Given the description of an element on the screen output the (x, y) to click on. 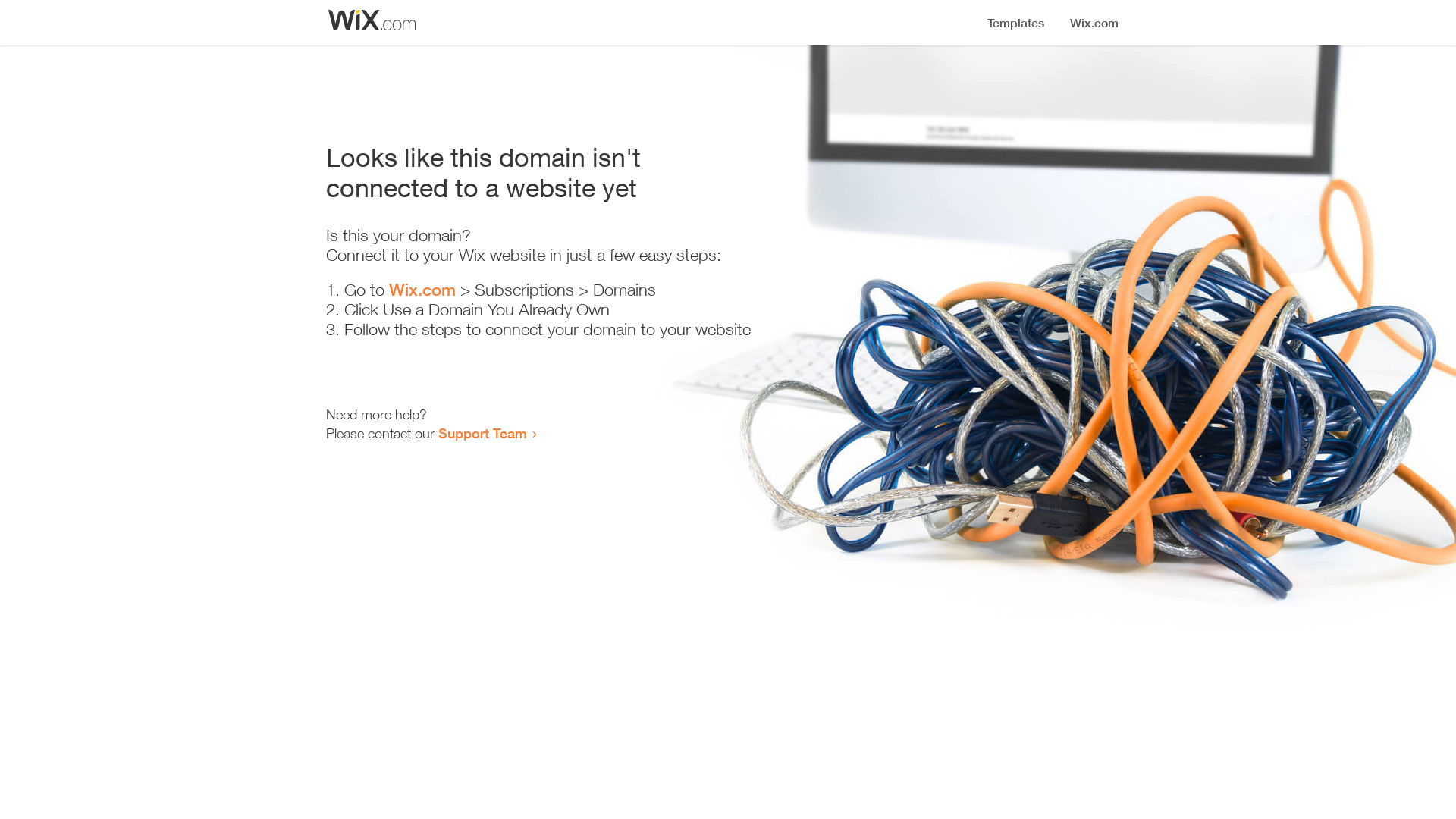
Wix.com Element type: text (422, 289)
Support Team Element type: text (482, 432)
